Given the description of an element on the screen output the (x, y) to click on. 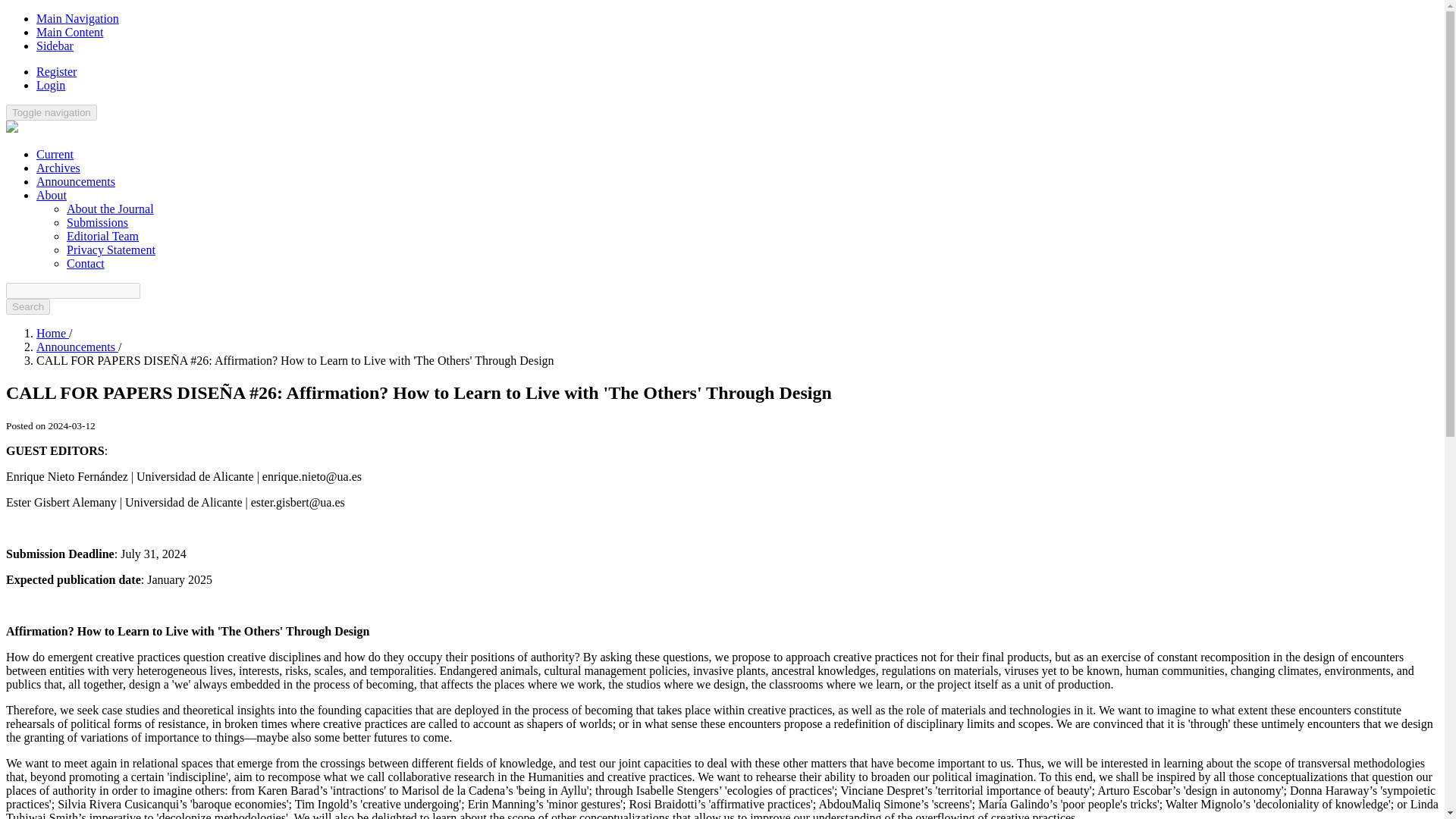
Home (52, 332)
Archives (58, 167)
Contact (85, 263)
Main Navigation (77, 18)
Current (55, 154)
About the Journal (110, 208)
Main Content (69, 31)
Login (50, 84)
Privacy Statement (110, 249)
Announcements (76, 346)
Sidebar (55, 45)
Search (27, 306)
Editorial Team (102, 236)
About (51, 195)
Register (56, 71)
